Given the description of an element on the screen output the (x, y) to click on. 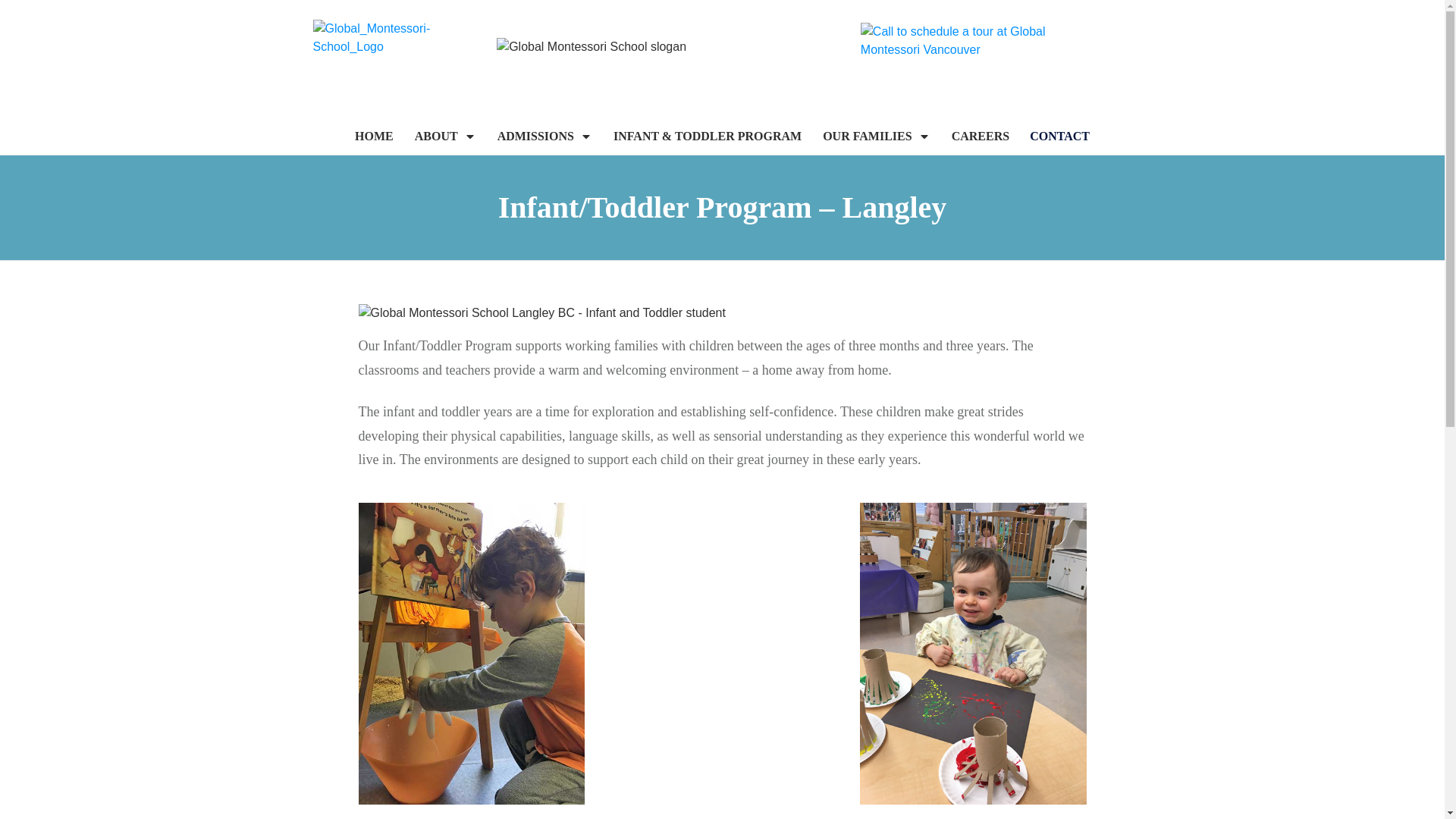
CAREERS (980, 136)
HOME (374, 136)
ADMISSIONS (544, 136)
OUR FAMILIES (876, 136)
CONTACT (1059, 136)
ABOUT (445, 136)
